Given the description of an element on the screen output the (x, y) to click on. 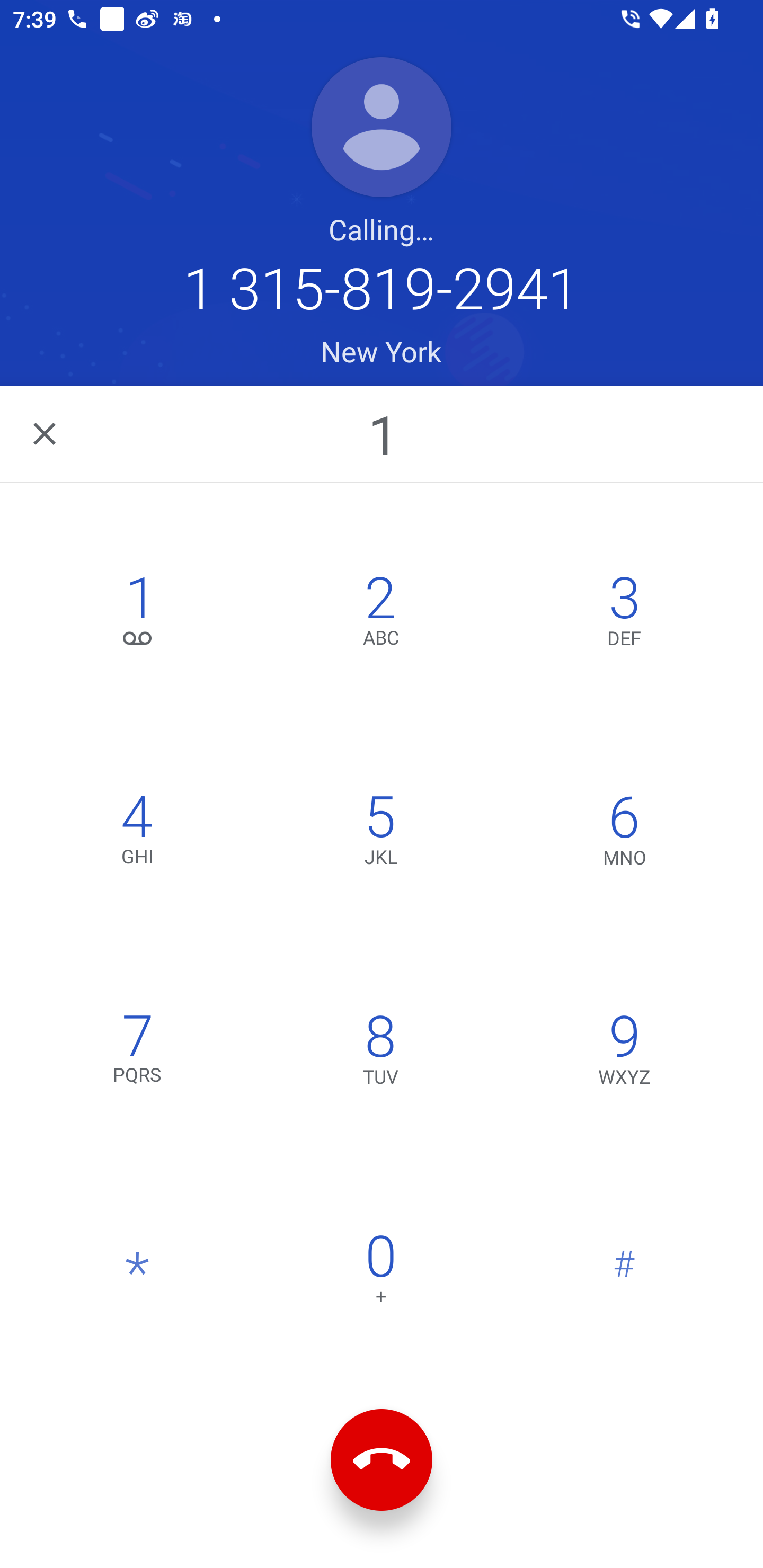
1 (382, 433)
Navigate back (45, 433)
1, 1 (137, 614)
2,ABC 2 ABC (380, 614)
3,DEF 3 DEF (624, 614)
4,GHI 4 GHI (137, 833)
5,JKL 5 JKL (380, 833)
6,MNO 6 MNO (624, 833)
7,PQRS 7 PQRS (137, 1053)
8,TUV 8 TUV (380, 1053)
9,WXYZ 9 WXYZ (624, 1053)
* (137, 1272)
0 0 + (380, 1272)
# (624, 1272)
End call (381, 1460)
